Given the description of an element on the screen output the (x, y) to click on. 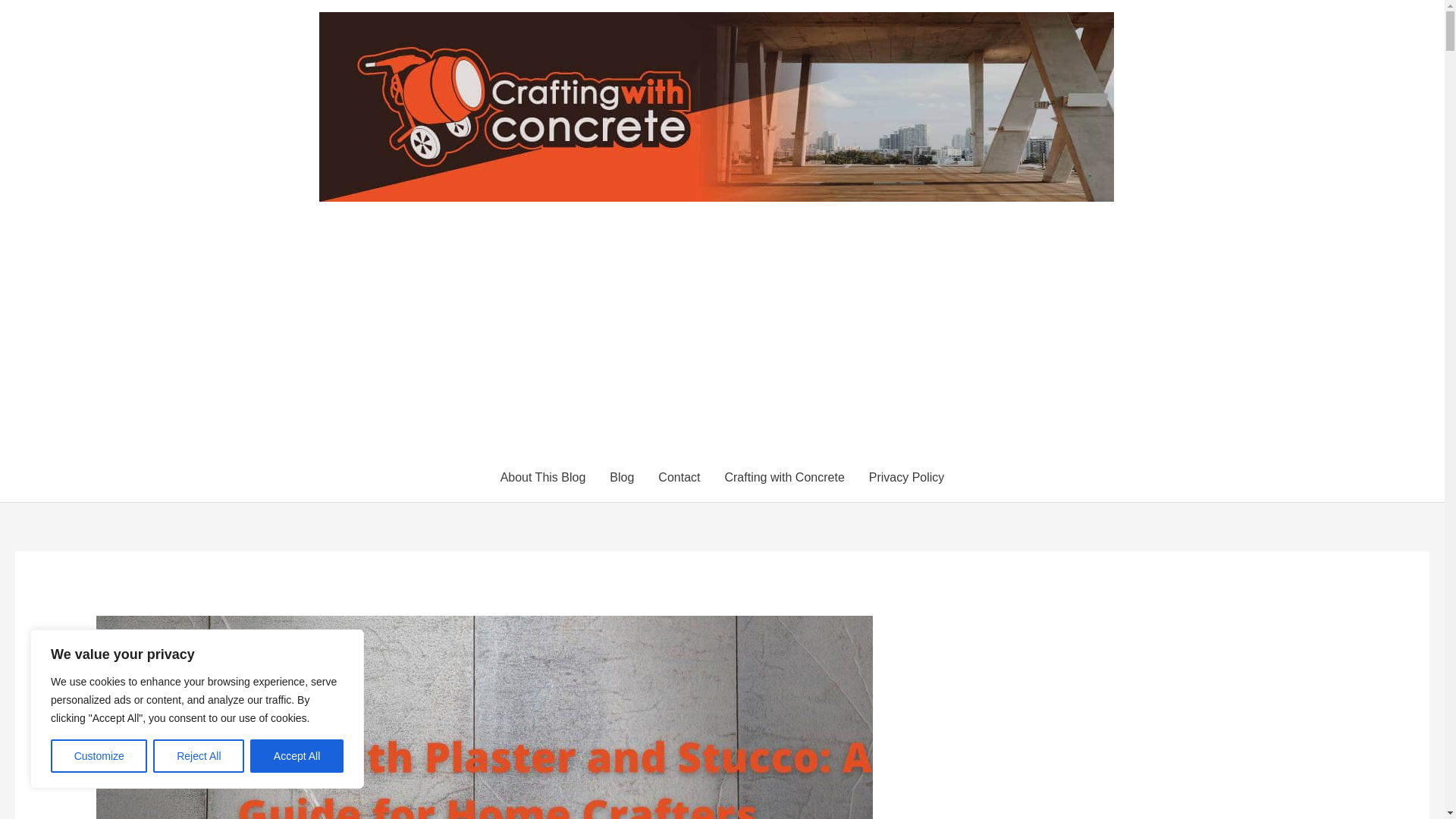
Blog (621, 477)
Reject All (198, 756)
Contact (678, 477)
Accept All (296, 756)
Customize (98, 756)
Crafting with Concrete (783, 477)
Privacy Policy (906, 477)
About This Blog (542, 477)
